Given the description of an element on the screen output the (x, y) to click on. 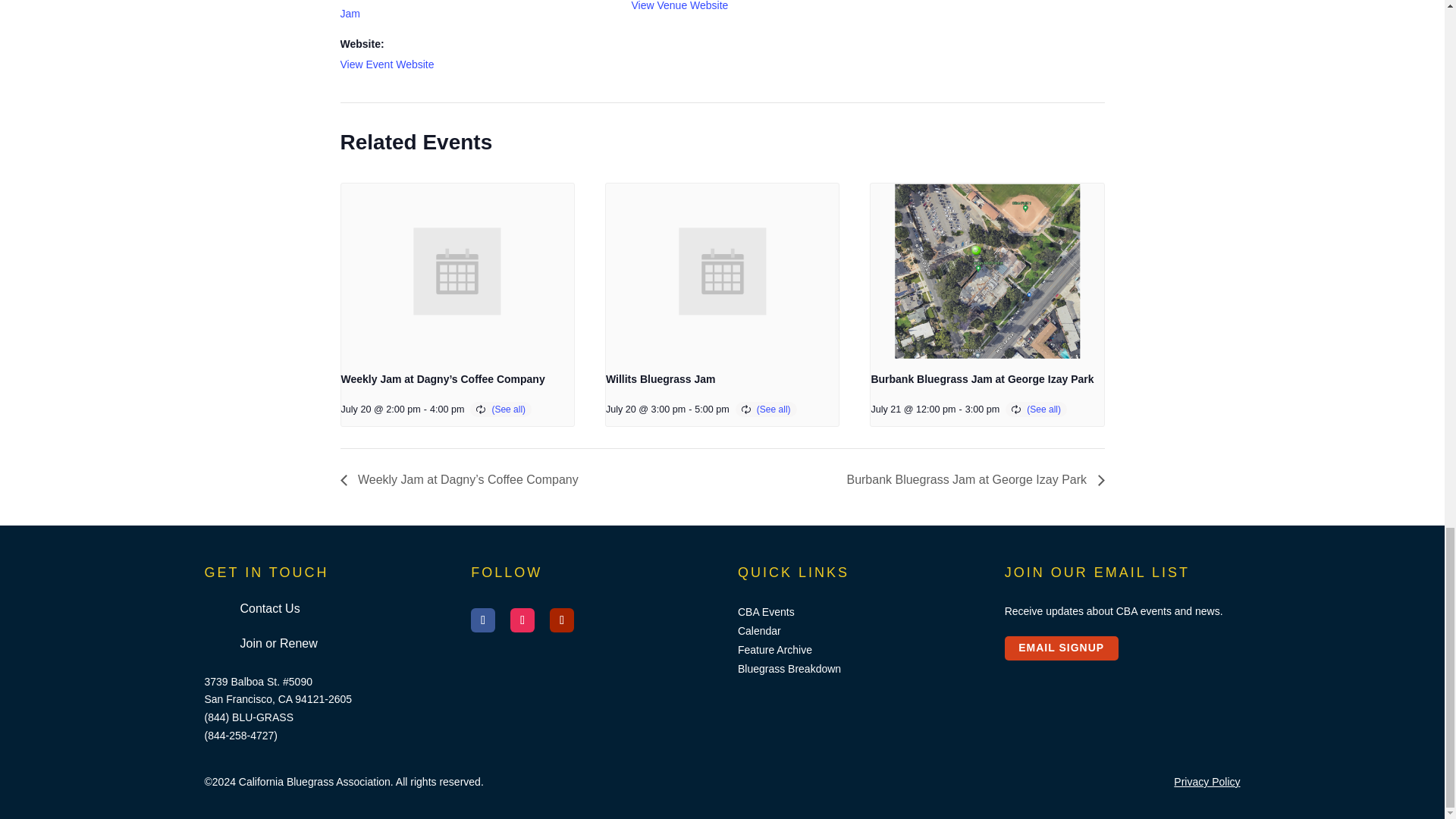
Follow on Youtube (561, 620)
Follow on Instagram (522, 620)
Follow on Facebook (482, 620)
